Given the description of an element on the screen output the (x, y) to click on. 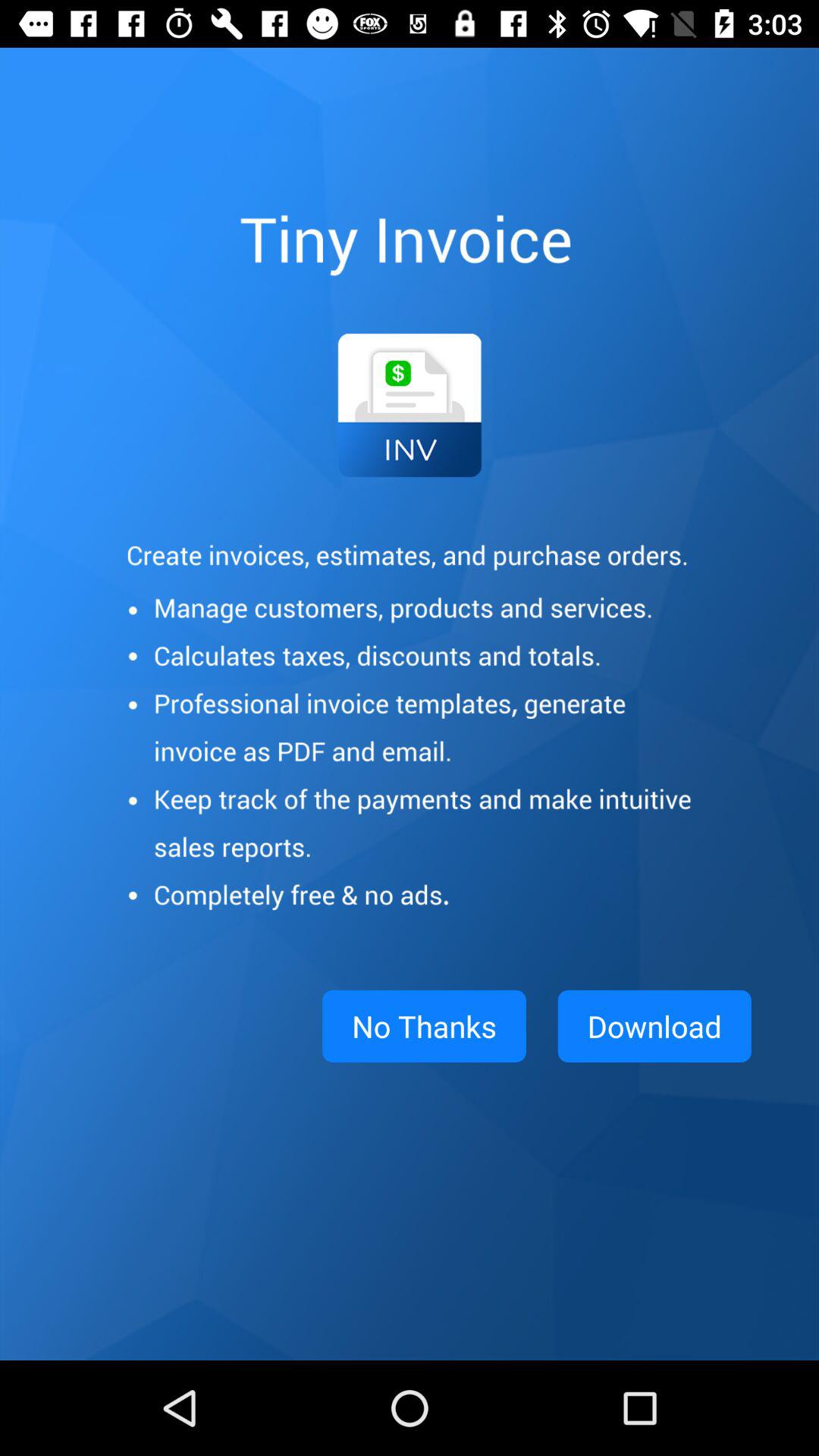
jump to the download (654, 1026)
